Given the description of an element on the screen output the (x, y) to click on. 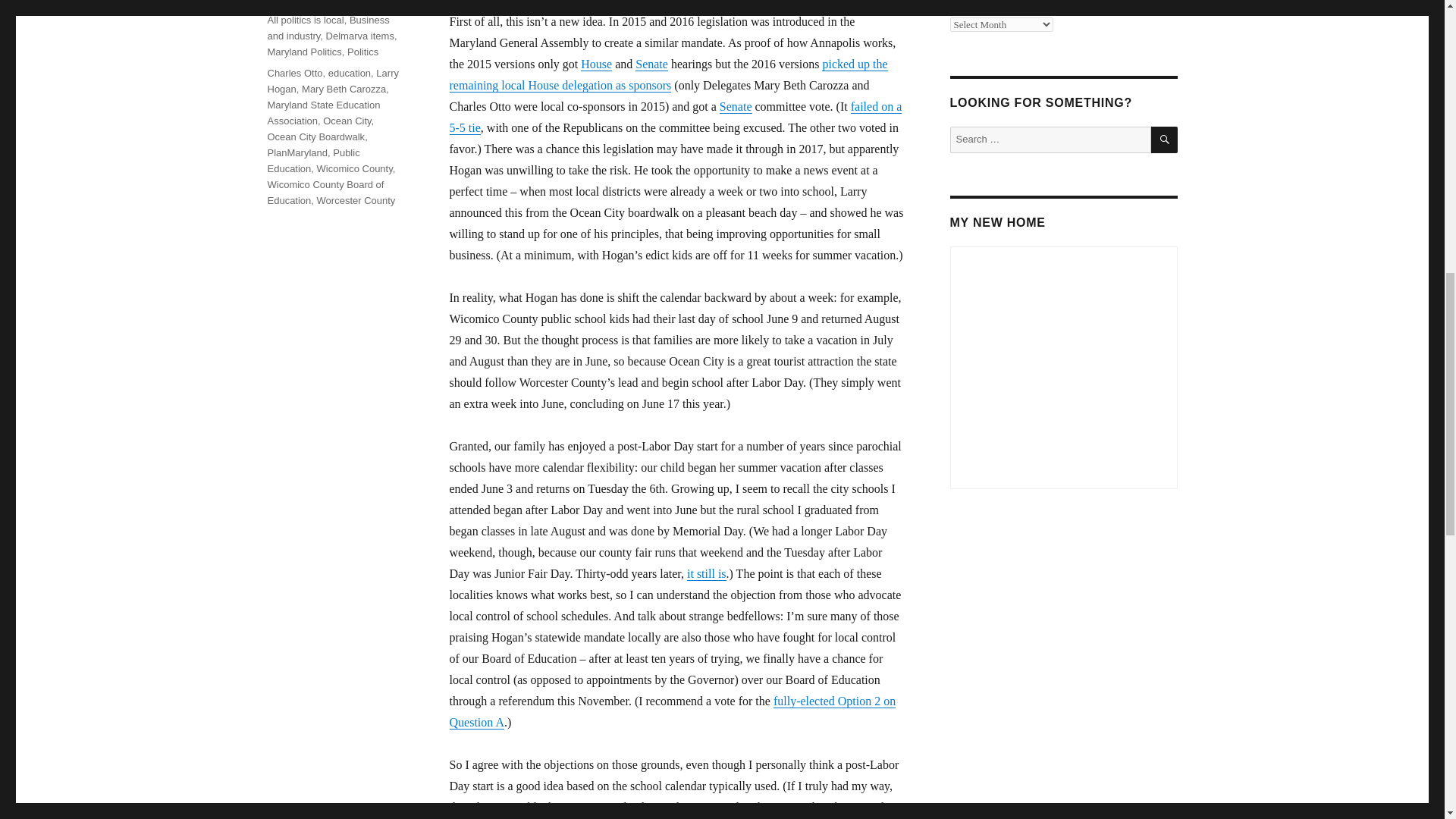
Worcester County (356, 200)
PlanMaryland (296, 152)
Public Education (312, 160)
Ocean City Boardwalk (315, 136)
September 4, 2016 (308, 2)
Senate (651, 63)
Wicomico County Board of Education (325, 192)
Ocean City (347, 120)
Delmarva items (360, 35)
Wicomico County (355, 168)
